Given the description of an element on the screen output the (x, y) to click on. 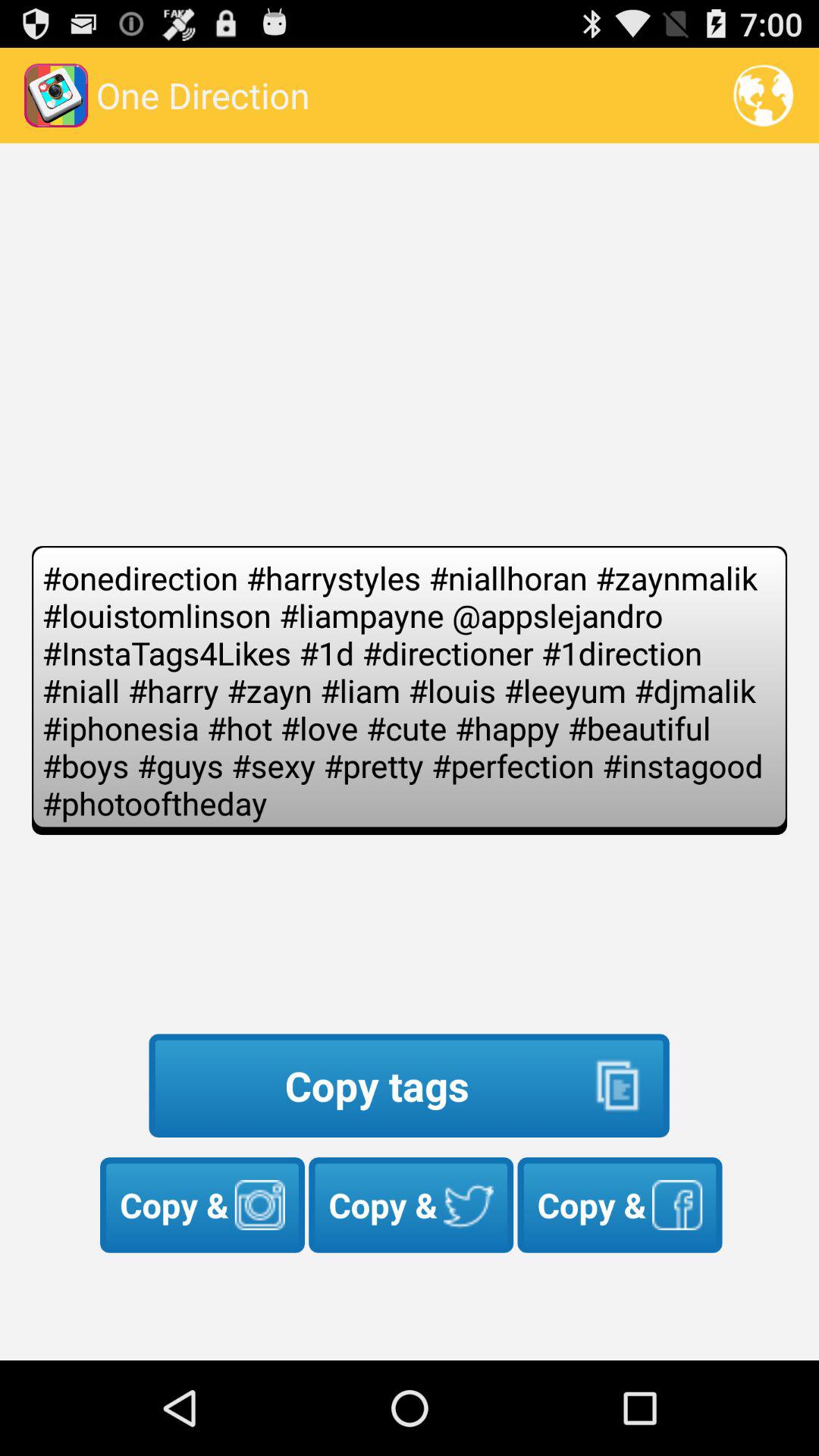
turn off the item below the onedirection harrystyles niallhoran icon (409, 1085)
